Given the description of an element on the screen output the (x, y) to click on. 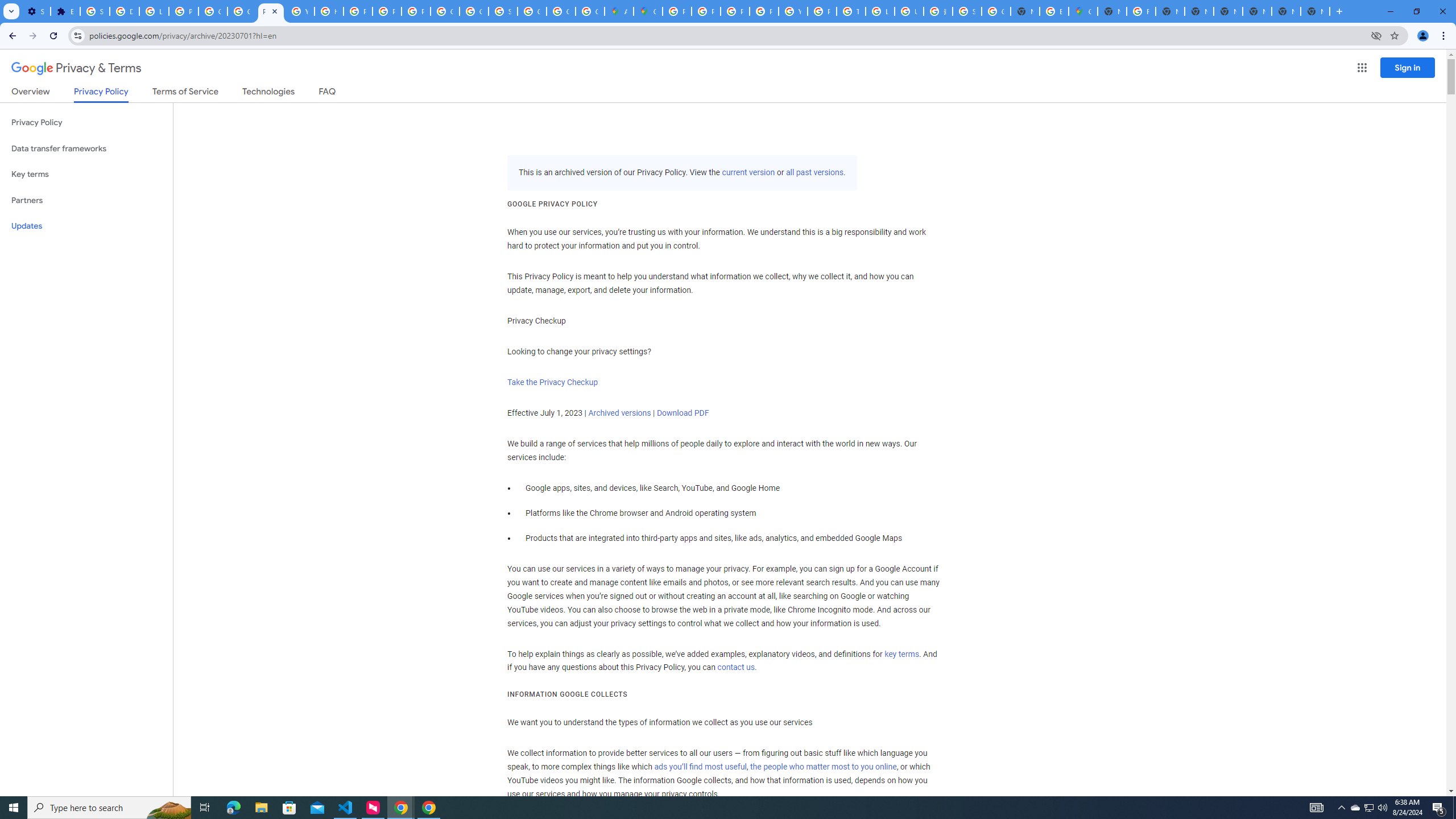
Privacy Help Center - Policies Help (705, 11)
New Tab (1256, 11)
Partners (86, 199)
Delete photos & videos - Computer - Google Photos Help (124, 11)
https://scholar.google.com/ (327, 11)
Take the Privacy Checkup (552, 381)
Explore new street-level details - Google Maps Help (1054, 11)
